Given the description of an element on the screen output the (x, y) to click on. 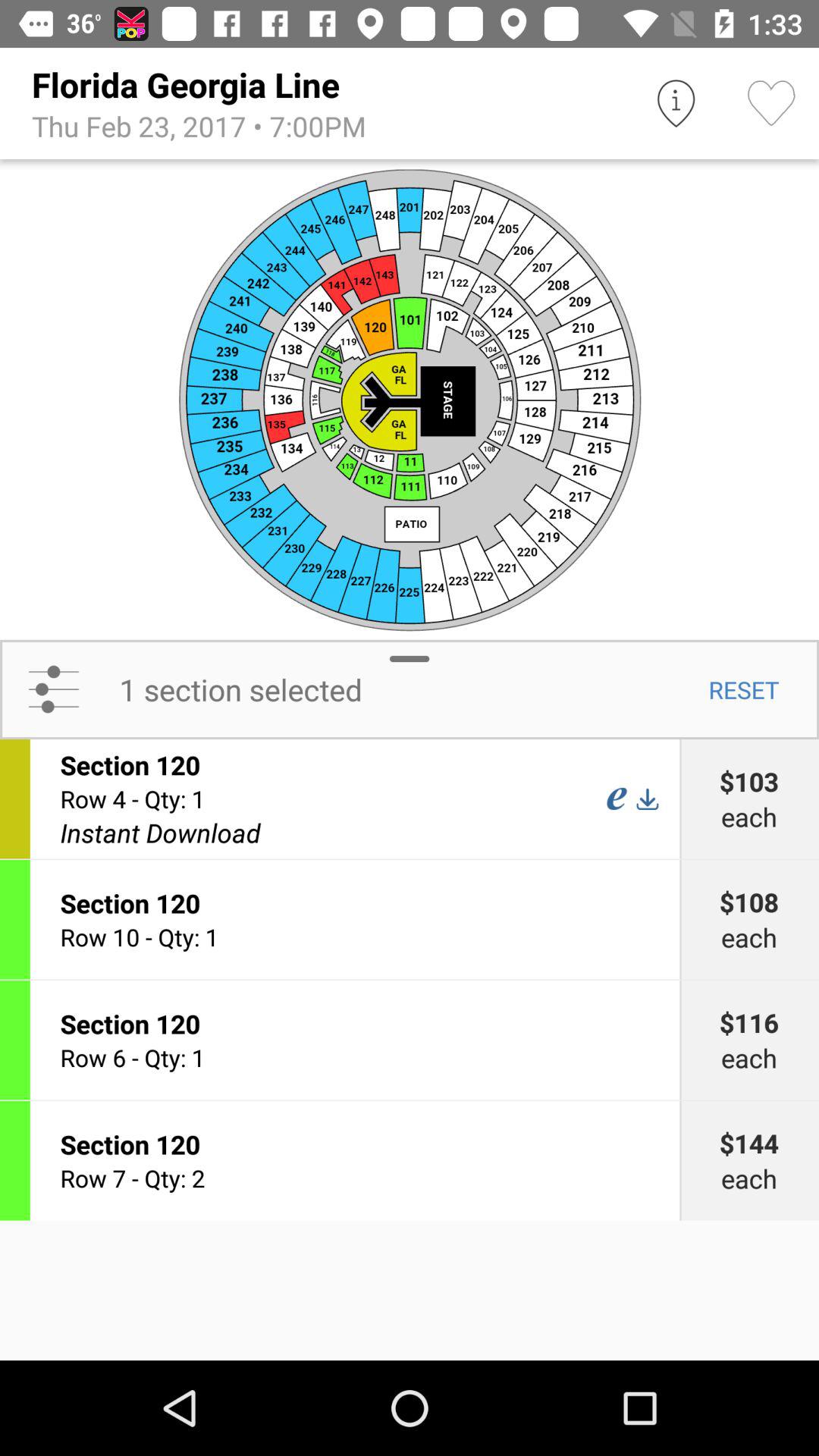
launch icon above reset icon (409, 399)
